Given the description of an element on the screen output the (x, y) to click on. 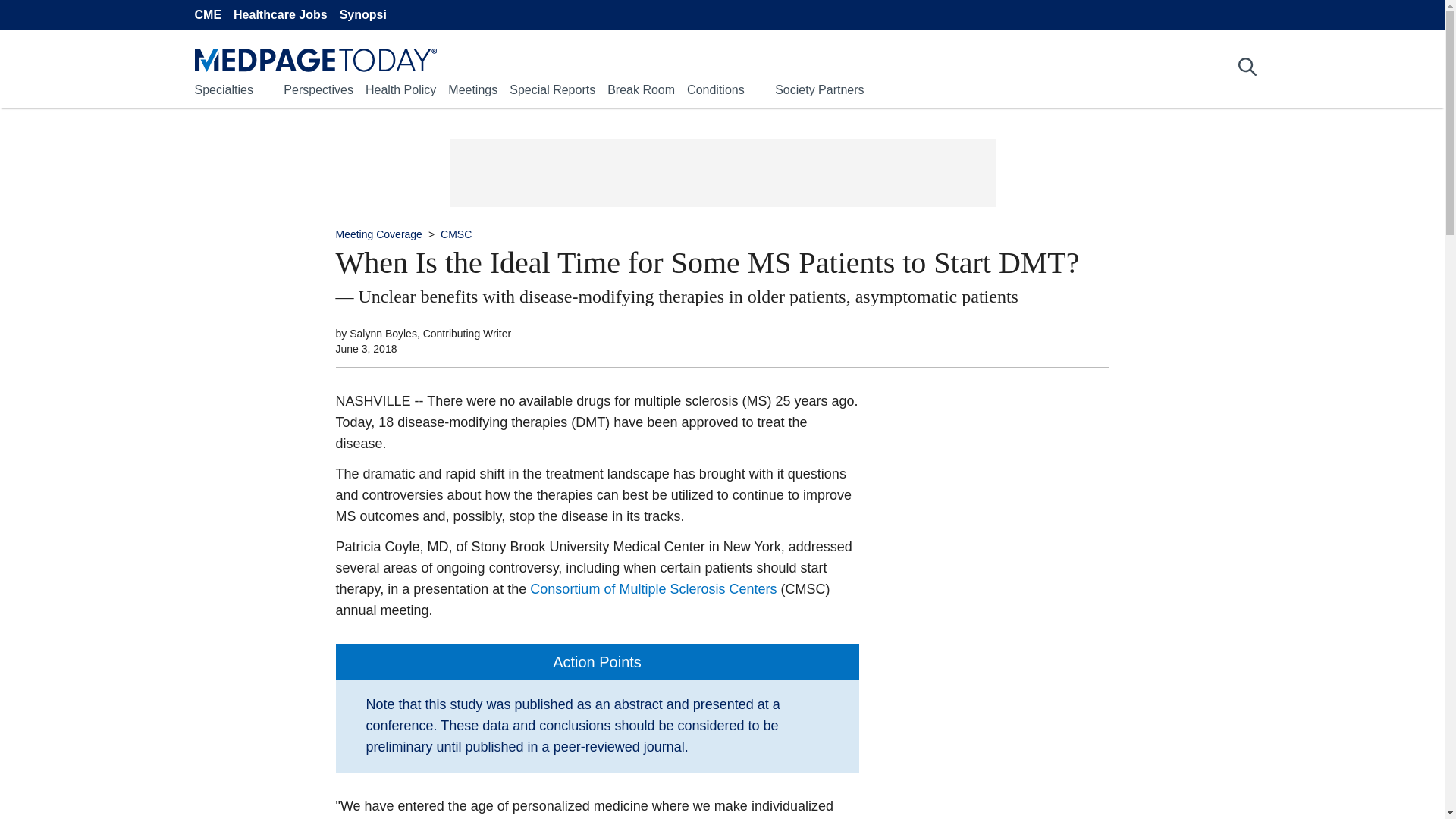
Healthcare Jobs (279, 15)
Synopsi (363, 15)
Specialties (222, 89)
CME (207, 15)
